Given the description of an element on the screen output the (x, y) to click on. 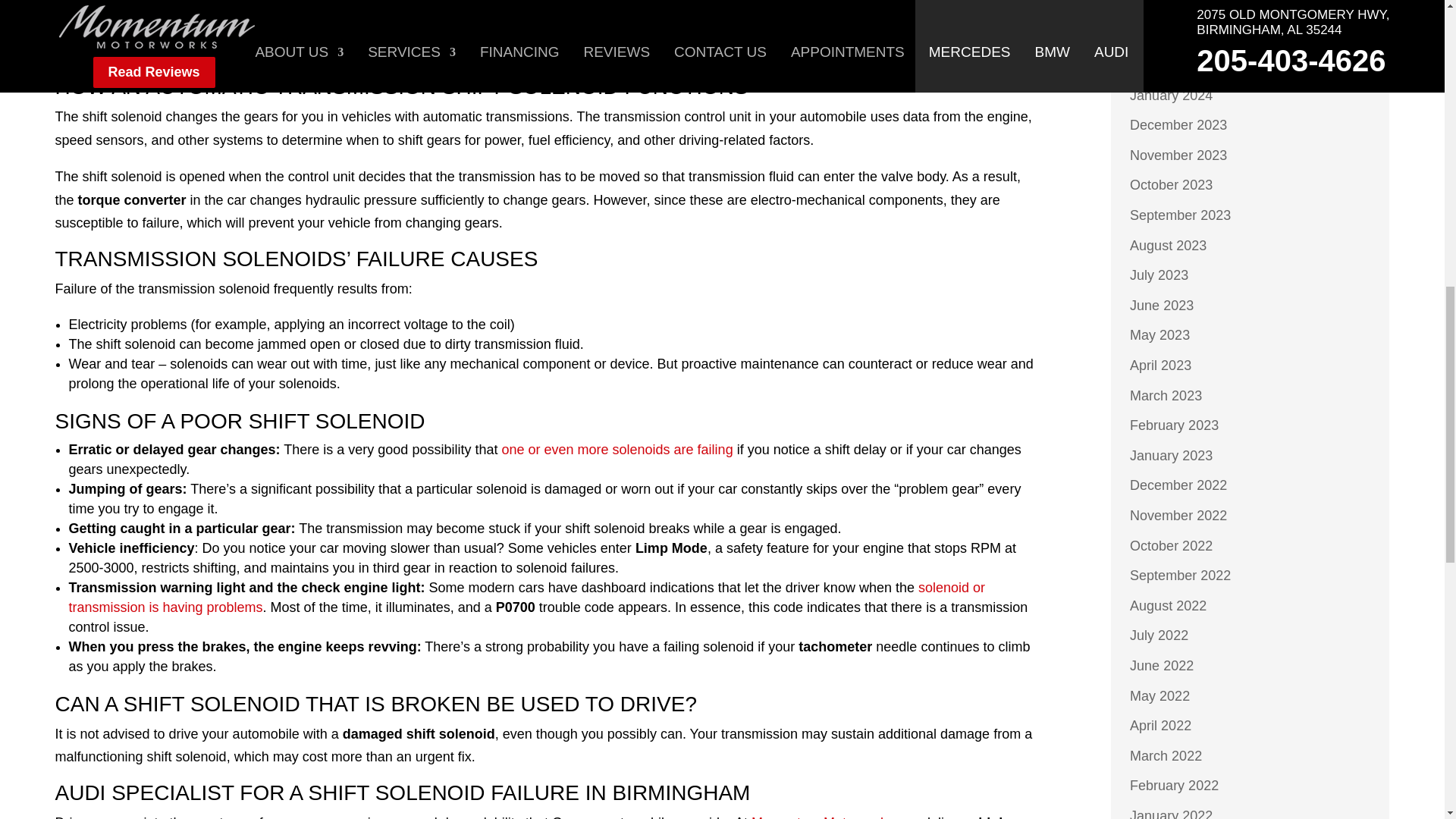
one or even more solenoids are failing (616, 449)
Momentum Motorworks (822, 816)
solenoid or transmission is having problems (526, 597)
